Given the description of an element on the screen output the (x, y) to click on. 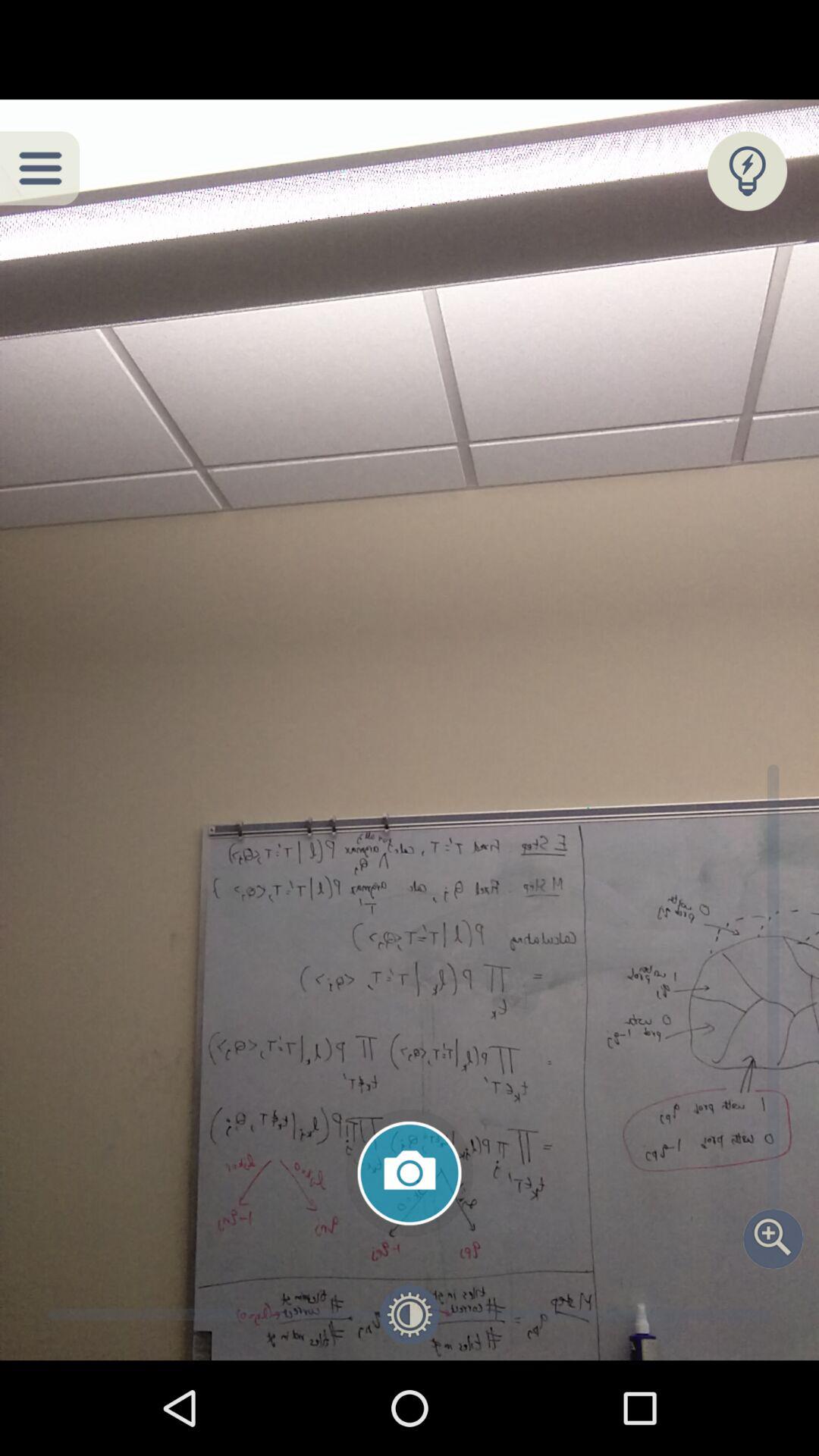
toggle flash (747, 171)
